Given the description of an element on the screen output the (x, y) to click on. 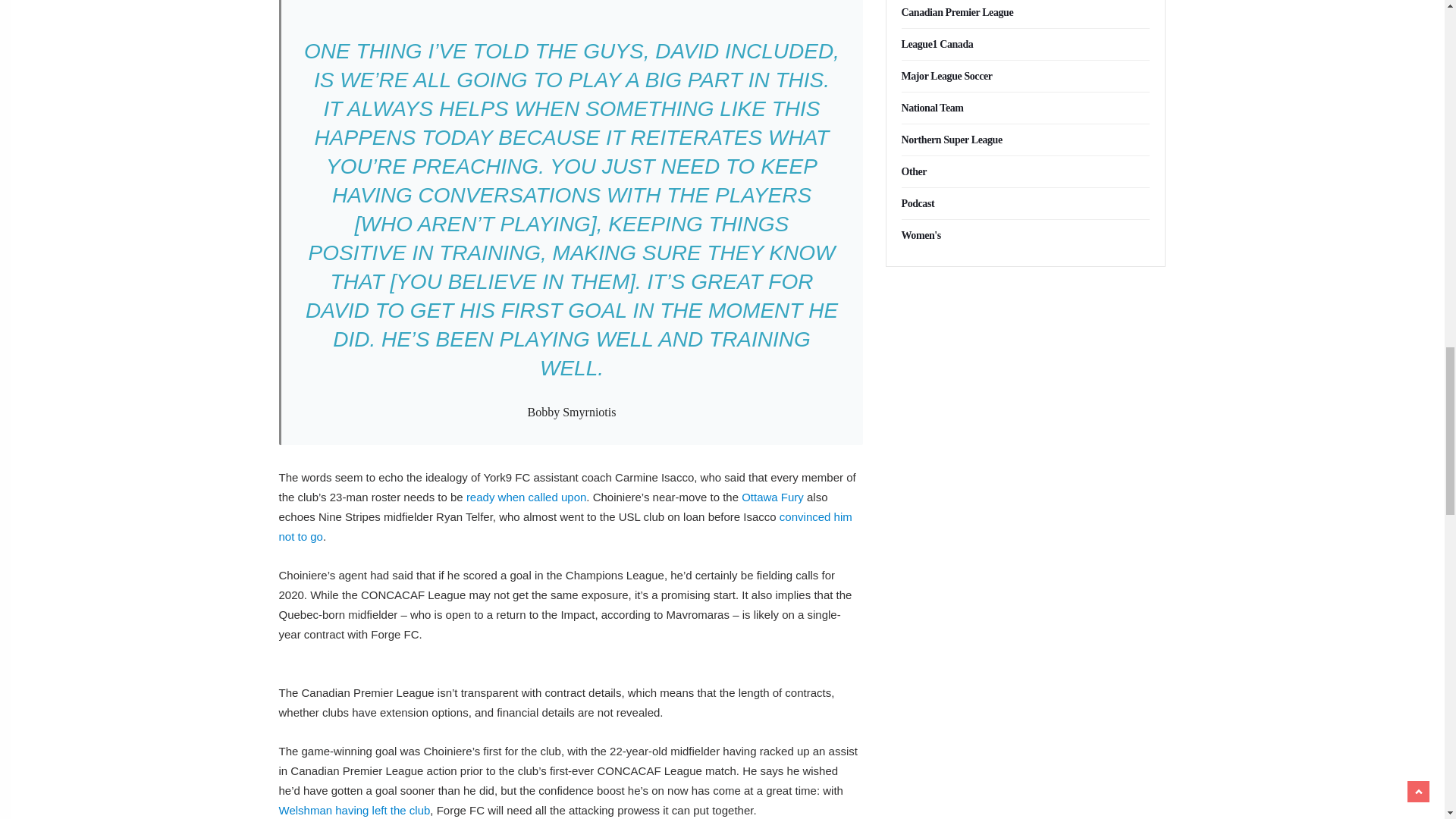
Ottawa Fury (772, 496)
ready when called upon (525, 496)
convinced him not to go (565, 526)
